Given the description of an element on the screen output the (x, y) to click on. 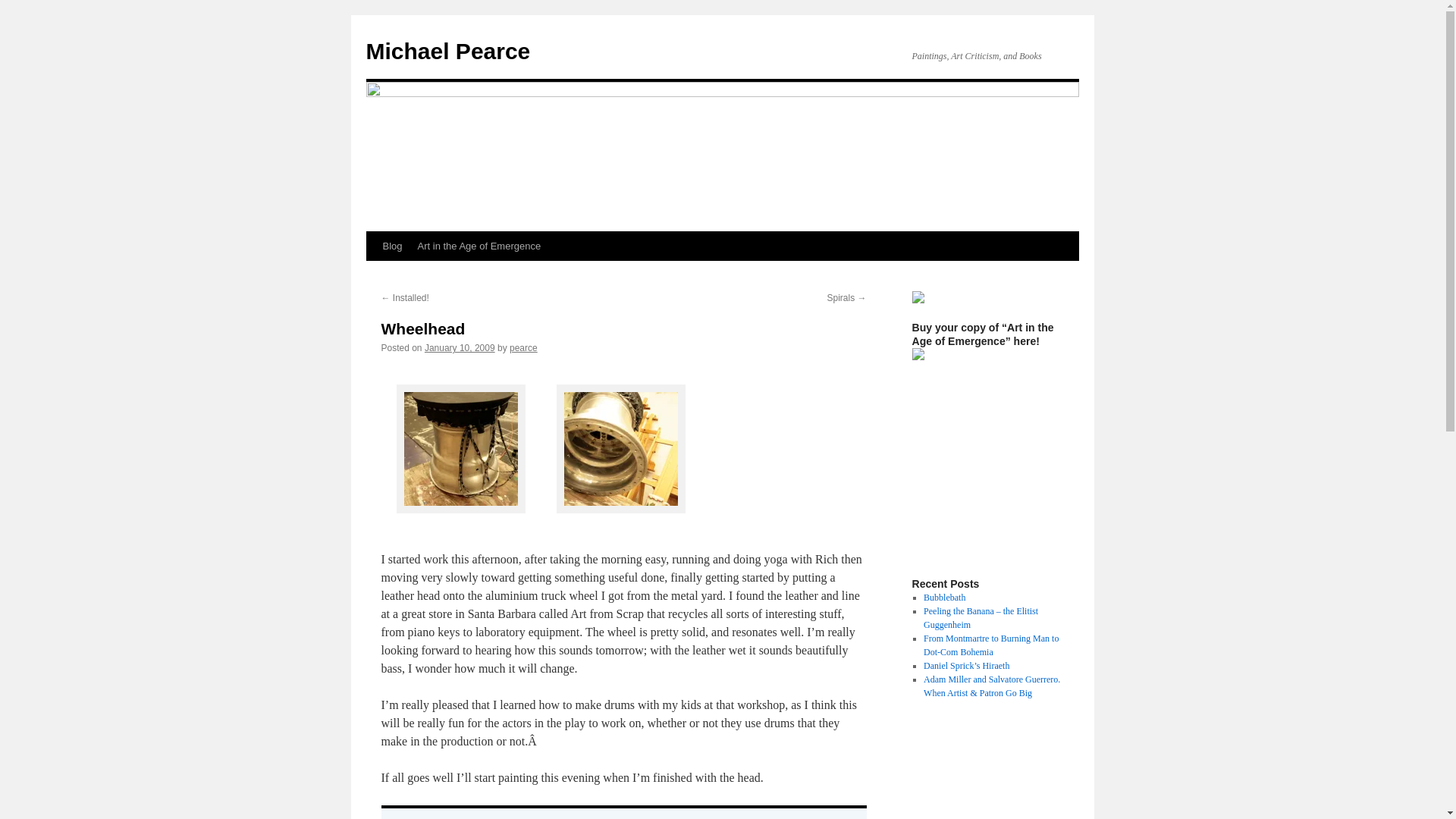
Michael Pearce (447, 50)
Michael Pearce (447, 50)
6:03 pm (460, 347)
Blog (391, 246)
pearce (523, 347)
From Montmartre to Burning Man to Dot-Com Bohemia (990, 645)
January 10, 2009 (460, 347)
Art in the Age of Emergence (479, 246)
View all posts by pearce (523, 347)
Bubblebath (944, 597)
